Given the description of an element on the screen output the (x, y) to click on. 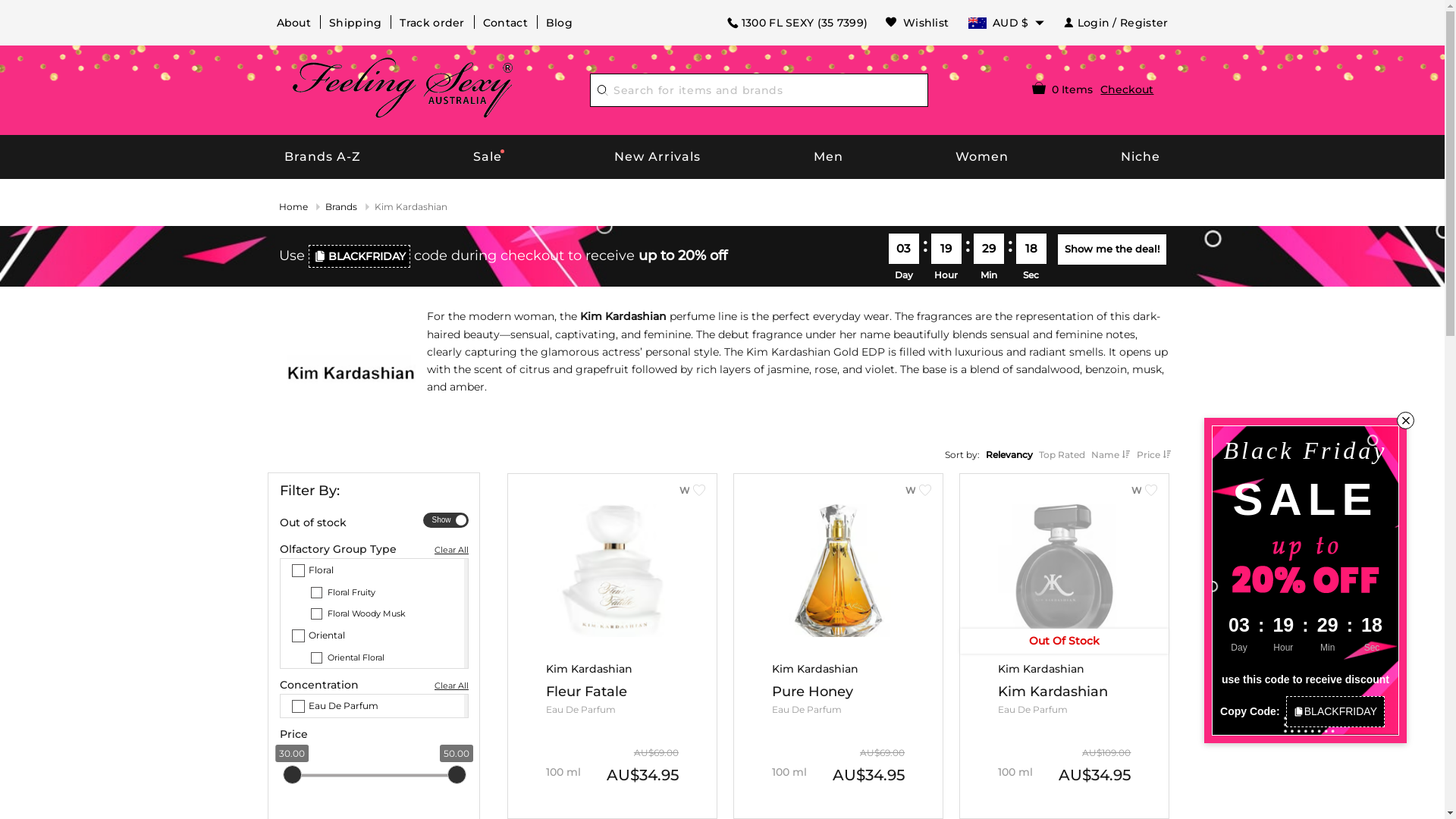
Sale Element type: text (488, 156)
New Arrivals Element type: text (658, 156)
Checkout Element type: text (1126, 89)
Show me the deal! Element type: text (1111, 248)
Brands A-Z Element type: text (322, 156)
Top Rated Element type: text (1061, 454)
Relevancy Element type: text (1008, 454)
Niche Element type: text (1140, 156)
Price Element type: text (1152, 454)
Name Element type: text (1109, 454)
Login / Register Element type: text (1115, 22)
Brands Element type: text (340, 206)
AUD $ Element type: text (1005, 22)
Contact Element type: text (504, 22)
Home Element type: text (293, 206)
Blog Element type: text (558, 22)
About Element type: text (293, 22)
Men Element type: text (828, 156)
  0 Items Element type: text (1062, 89)
BLACKFRIDAY Element type: text (1335, 711)
Women Element type: text (981, 156)
BLACKFRIDAY Element type: text (358, 255)
Feeling Sexy Reve Hair Element type: hover (402, 87)
Shipping Element type: text (355, 22)
1300 FL SEXY (35 7399) Element type: text (796, 22)
Wishlist Element type: text (916, 22)
Track order Element type: text (431, 22)
